Given the description of an element on the screen output the (x, y) to click on. 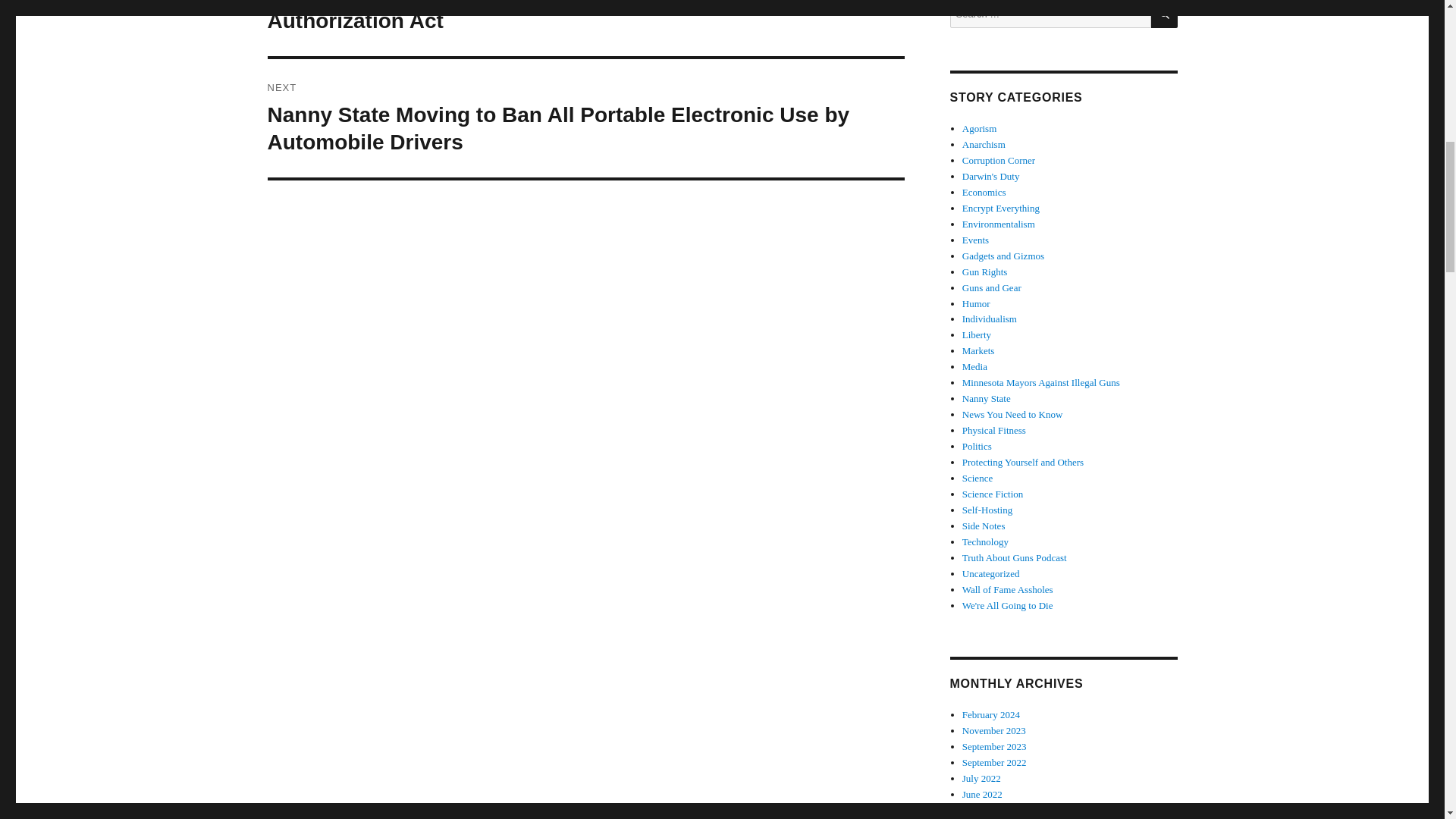
Economics (984, 192)
Individualism (989, 318)
Liberty (976, 334)
Markets (978, 350)
Humor (976, 302)
Protecting Yourself and Others (1022, 461)
Gadgets and Gizmos (1002, 255)
Politics (976, 446)
SEARCH (1164, 14)
Minnesota Mayors Against Illegal Guns (1040, 382)
Guns and Gear (992, 287)
Environmentalism (998, 224)
Physical Fitness (994, 430)
Darwin's Duty (991, 175)
